Given the description of an element on the screen output the (x, y) to click on. 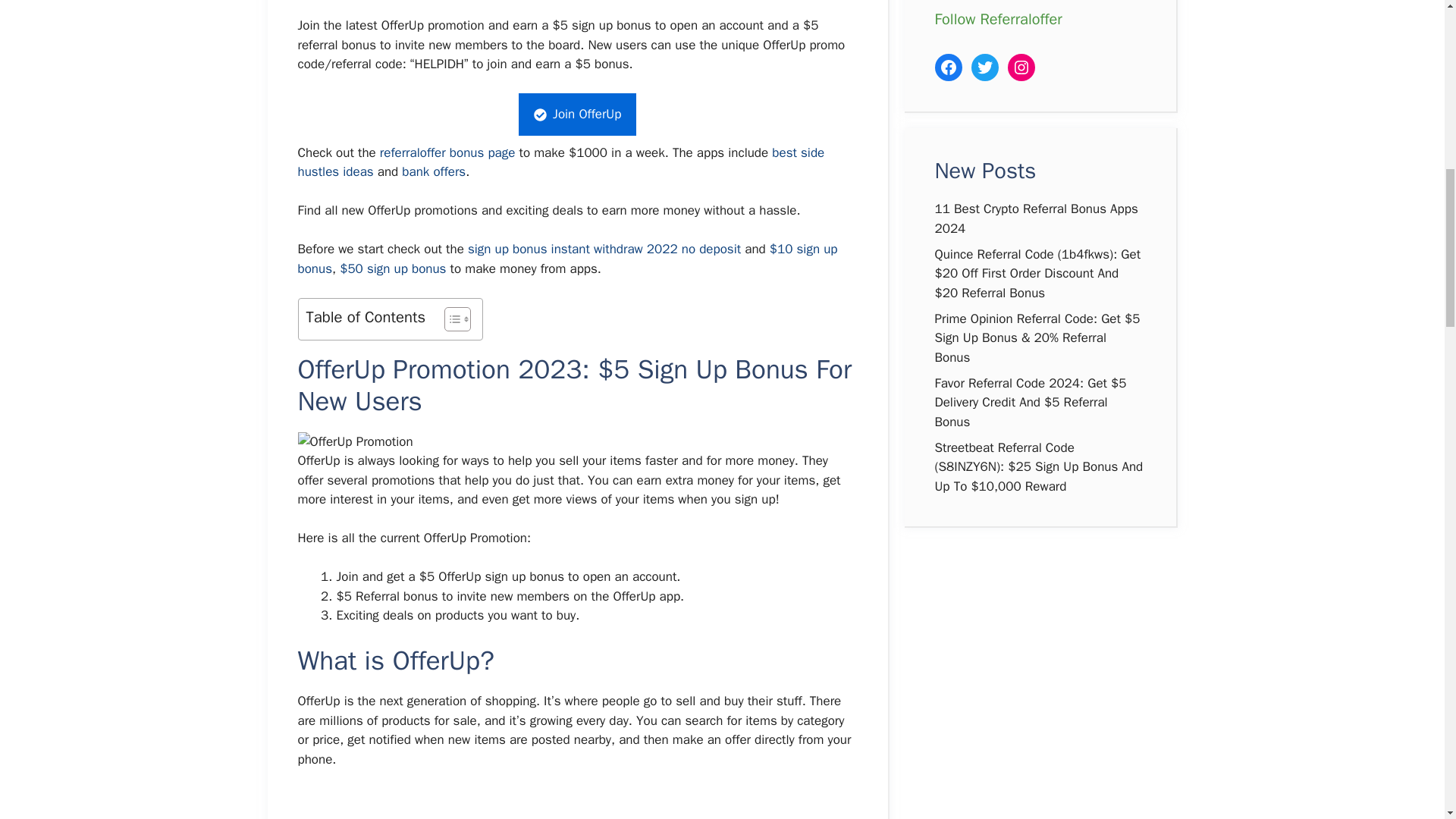
best side hustles ideas (560, 162)
referraloffer bonus page (447, 152)
Join OfferUp (577, 114)
sign up bonus instant withdraw 2022 no deposit (604, 248)
bank offers (433, 171)
